Given the description of an element on the screen output the (x, y) to click on. 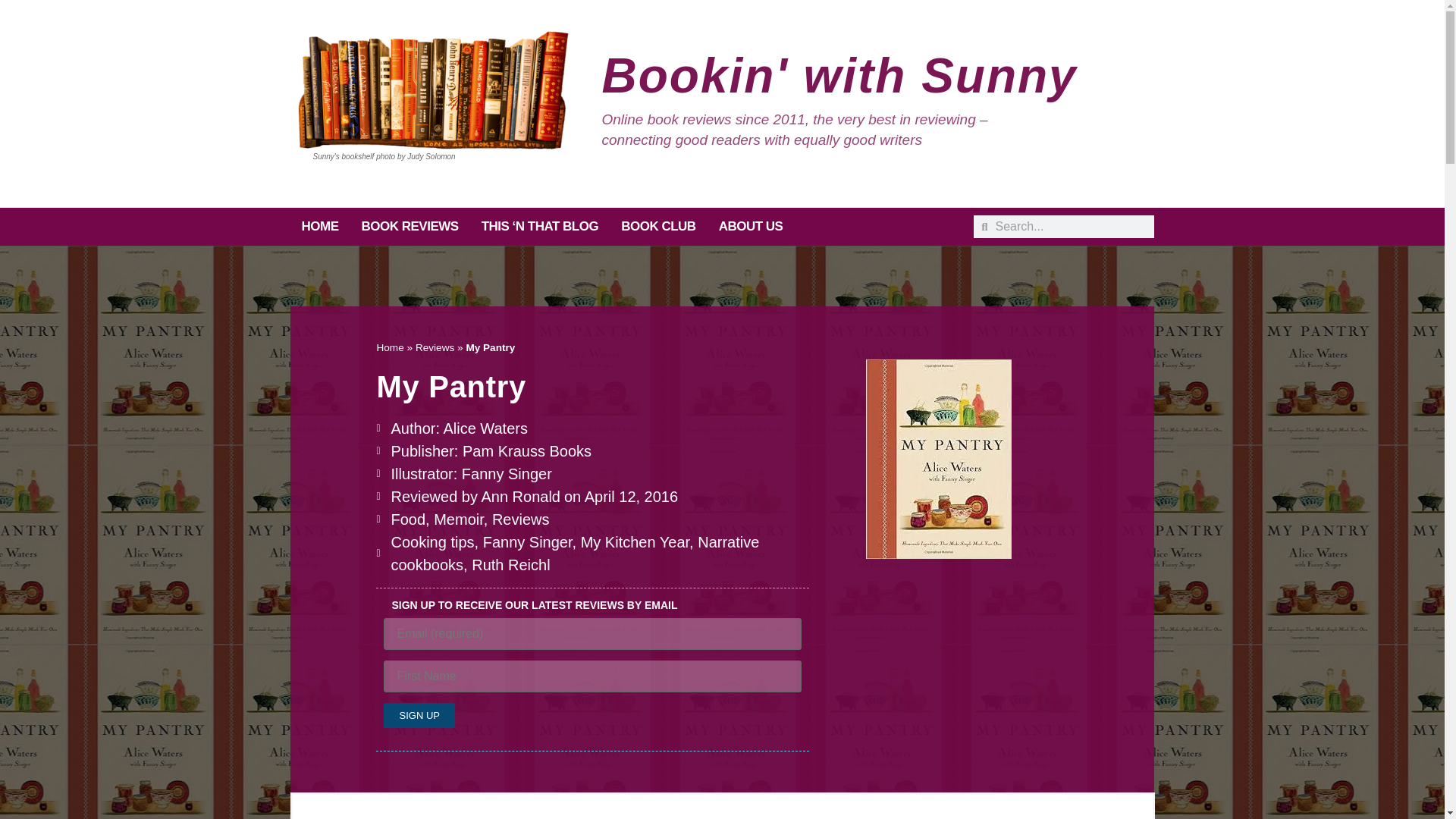
BOOK CLUB (658, 226)
Bookin' with Sunny (839, 75)
HOME (319, 226)
BOOK REVIEWS (410, 226)
